Given the description of an element on the screen output the (x, y) to click on. 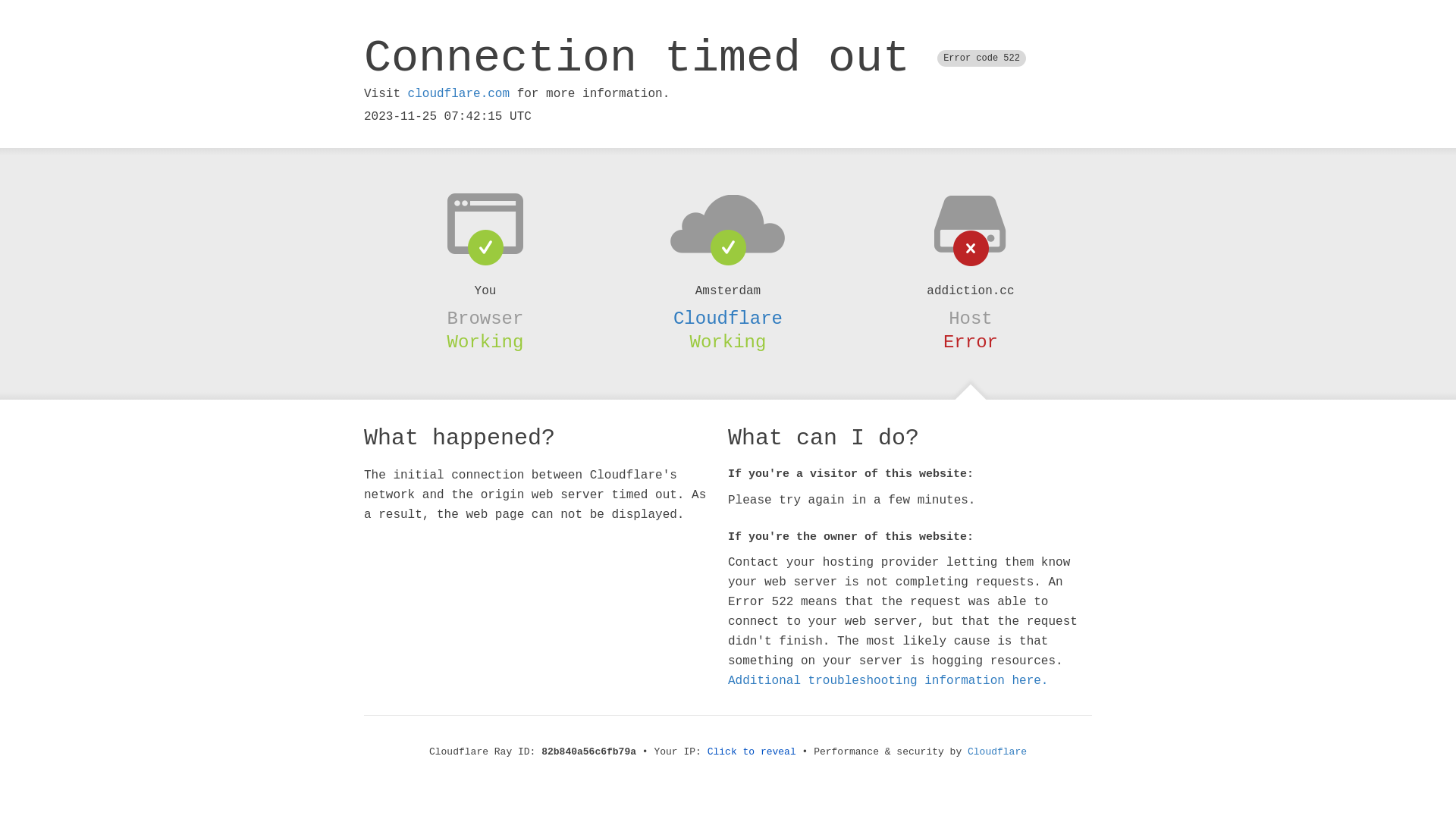
Click to reveal Element type: text (751, 751)
cloudflare.com Element type: text (458, 93)
Additional troubleshooting information here. Element type: text (888, 680)
Cloudflare Element type: text (996, 751)
Cloudflare Element type: text (727, 318)
